Given the description of an element on the screen output the (x, y) to click on. 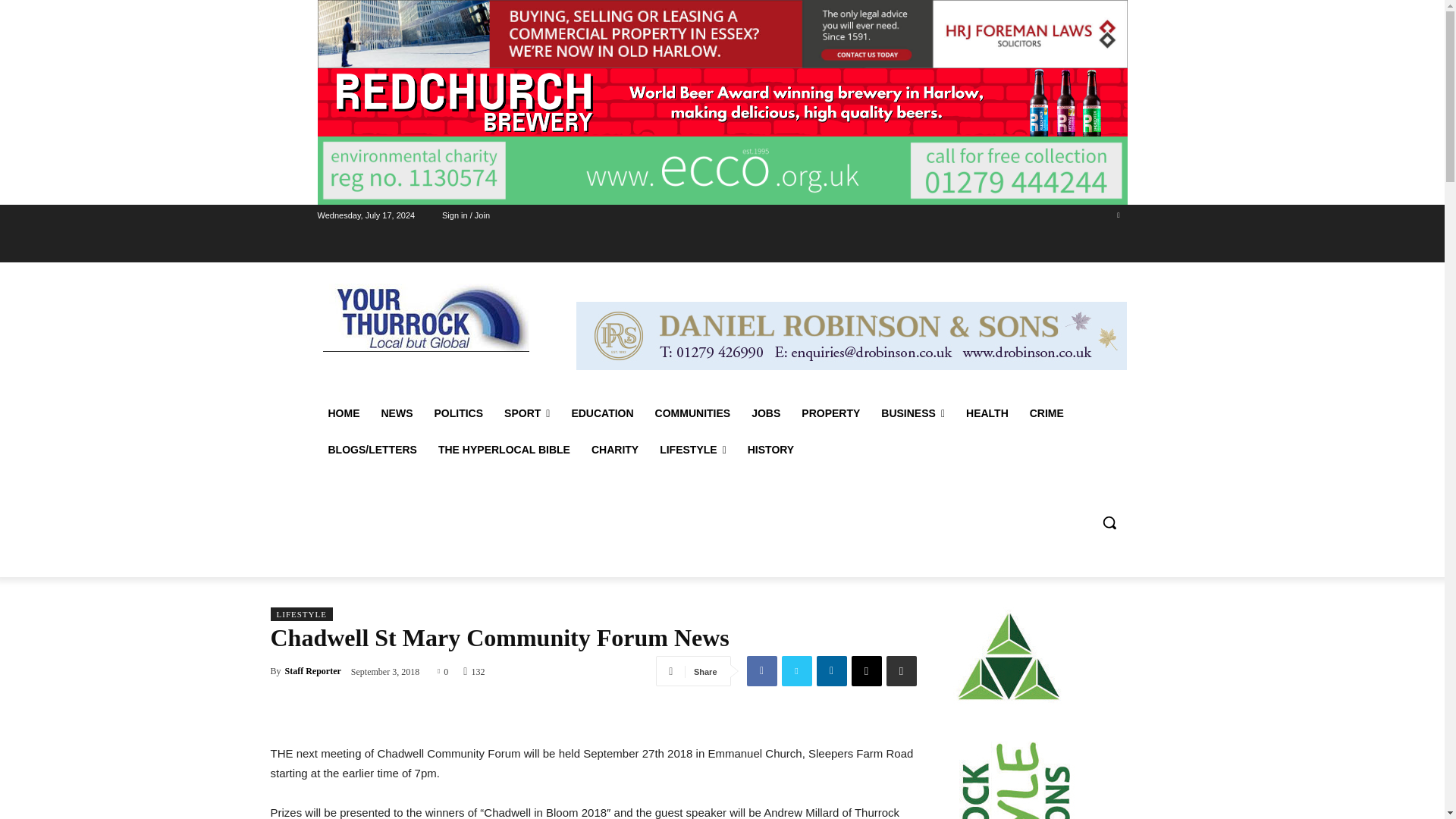
Print (900, 671)
Email (865, 671)
Twitter (1117, 215)
Linkedin (830, 671)
Facebook (760, 671)
Twitter (795, 671)
